Given the description of an element on the screen output the (x, y) to click on. 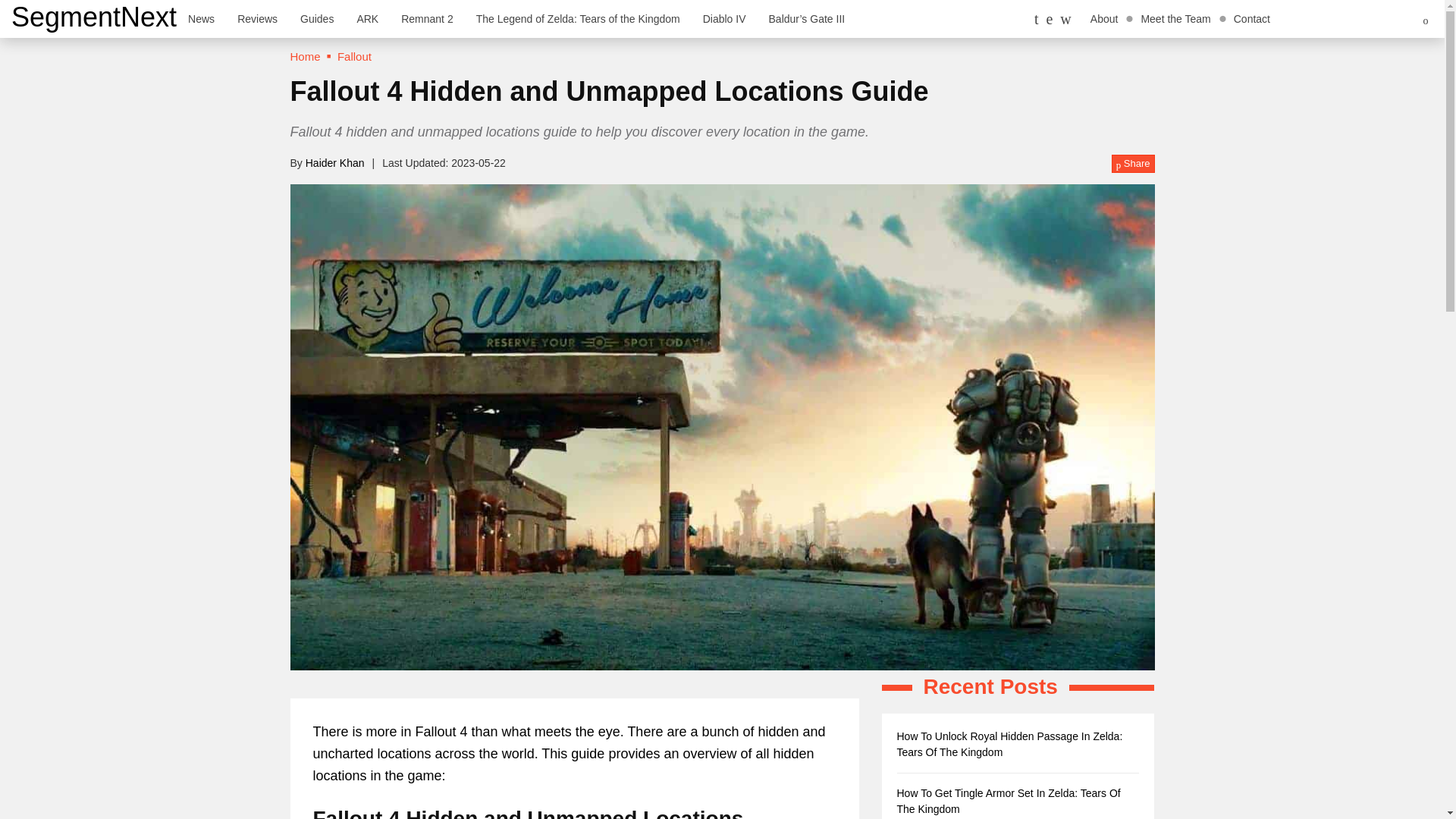
Reviews (256, 18)
Diablo IV (724, 18)
SegmentNext (93, 16)
Diablo IV (724, 18)
Meet the Team (1175, 18)
News (200, 18)
ARK (367, 18)
Guides (316, 18)
Contact (1252, 18)
Home (304, 56)
Share (1133, 163)
Fallout (354, 56)
ARK (367, 18)
The Legend of Zelda: Tears of the Kingdom (577, 18)
